Given the description of an element on the screen output the (x, y) to click on. 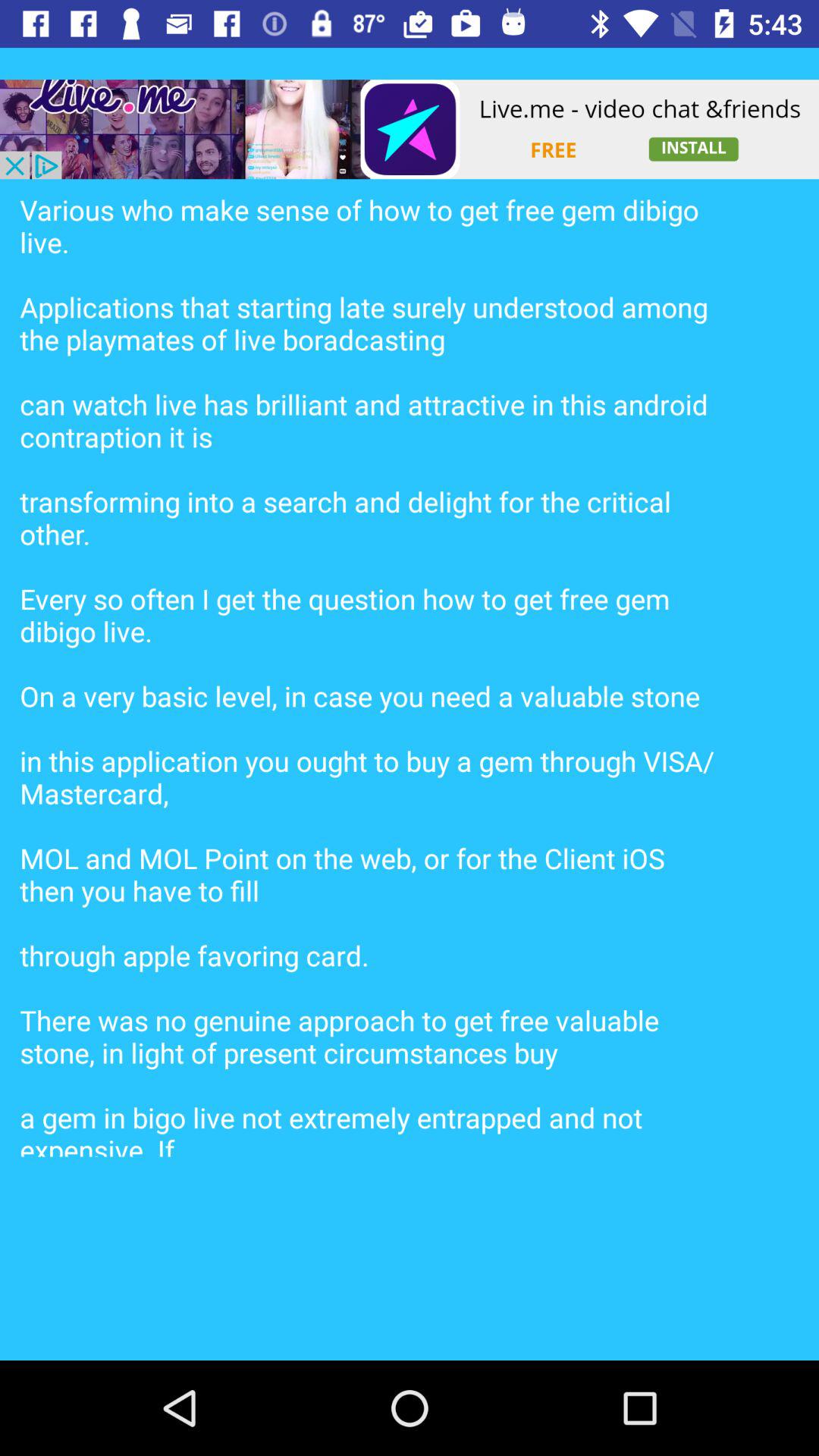
advertisement (409, 129)
